Given the description of an element on the screen output the (x, y) to click on. 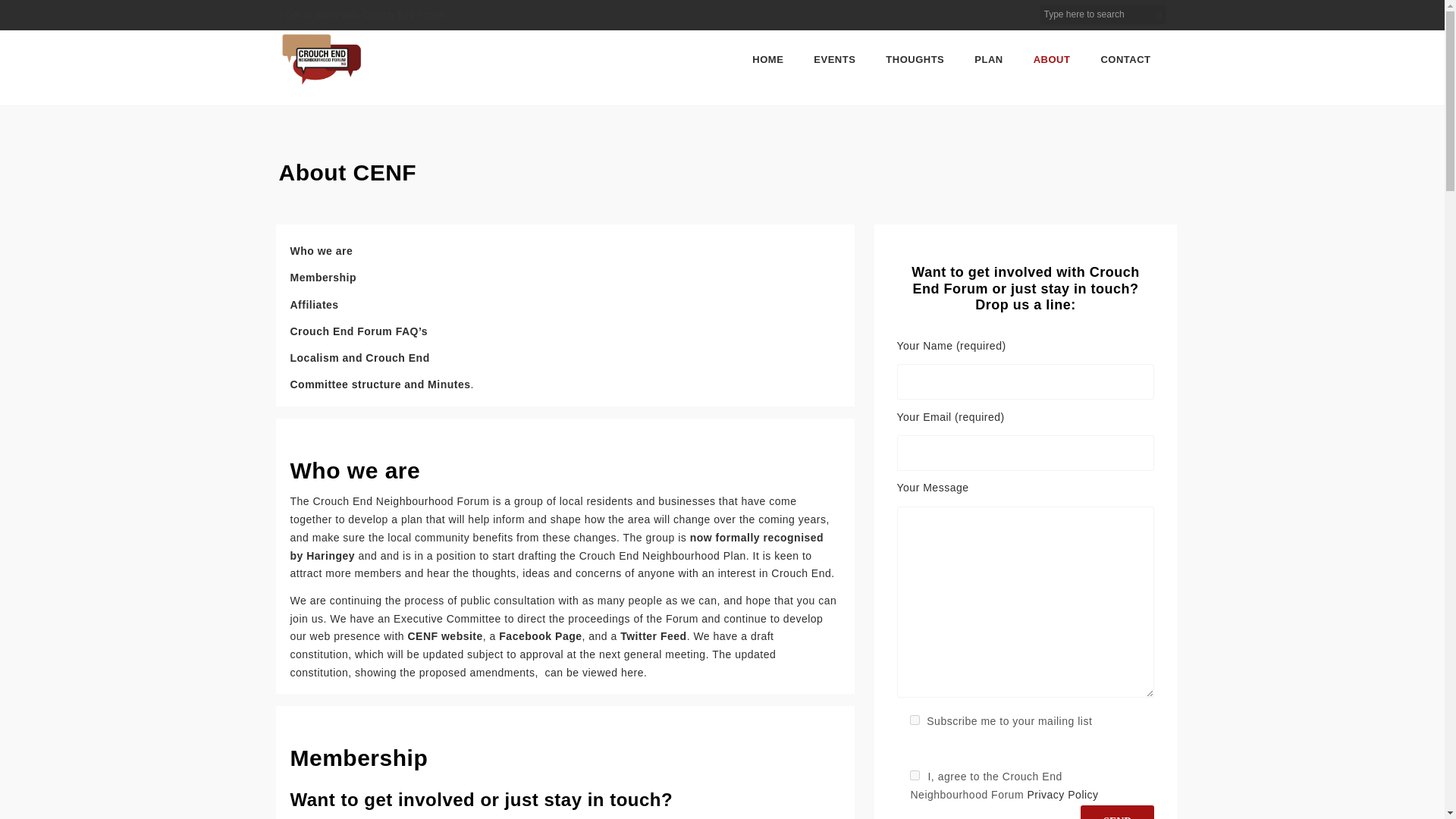
Twitter Feed (652, 635)
Who we are (320, 250)
Affiliates (313, 304)
Localism and Crouch End (359, 357)
THOUGHTS (914, 59)
1 (915, 775)
EVENTS (833, 59)
here (630, 672)
Get in touch with Crouch End Forum (365, 14)
